Given the description of an element on the screen output the (x, y) to click on. 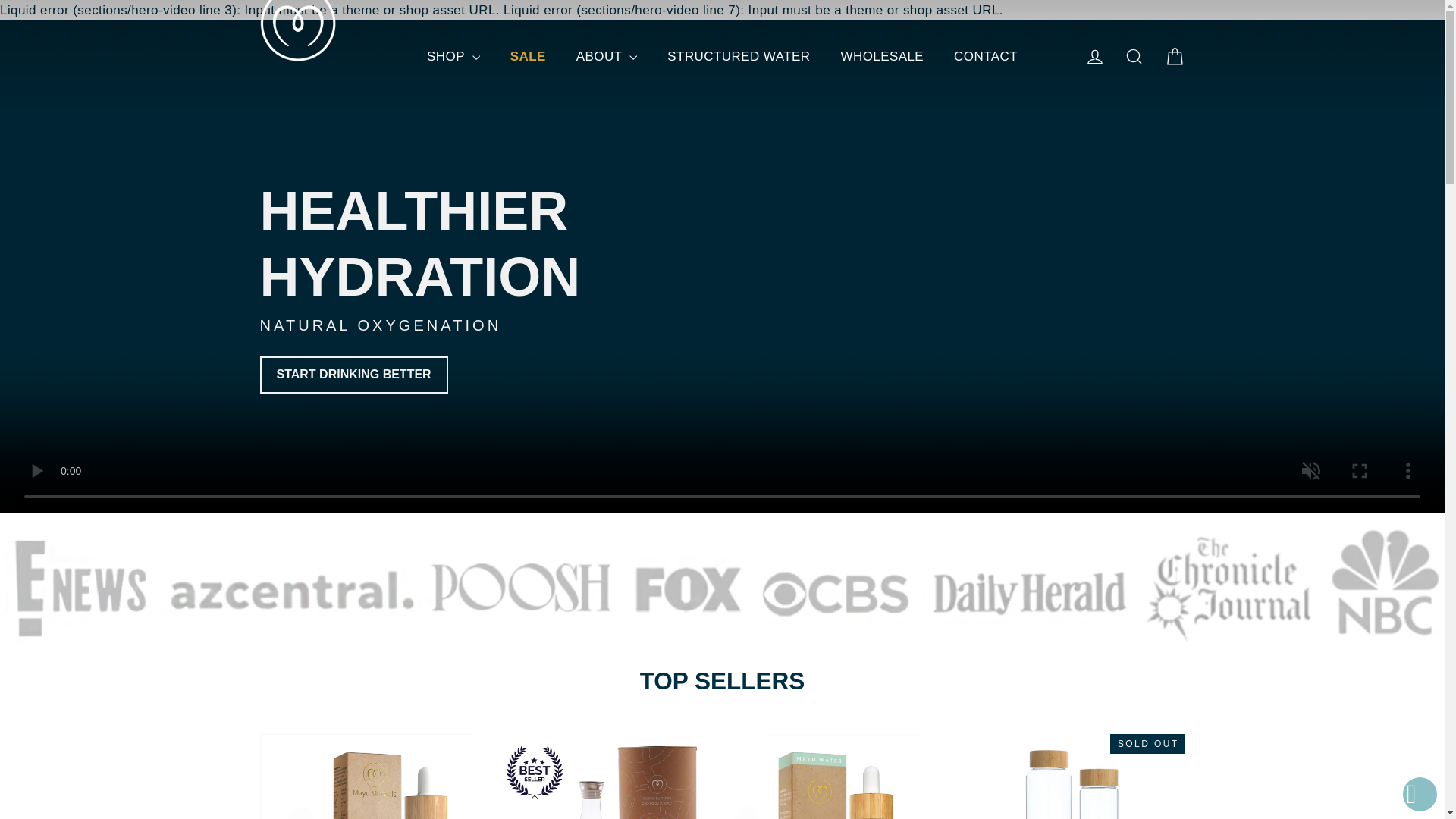
icon-search (1134, 56)
account (1094, 56)
